Given the description of an element on the screen output the (x, y) to click on. 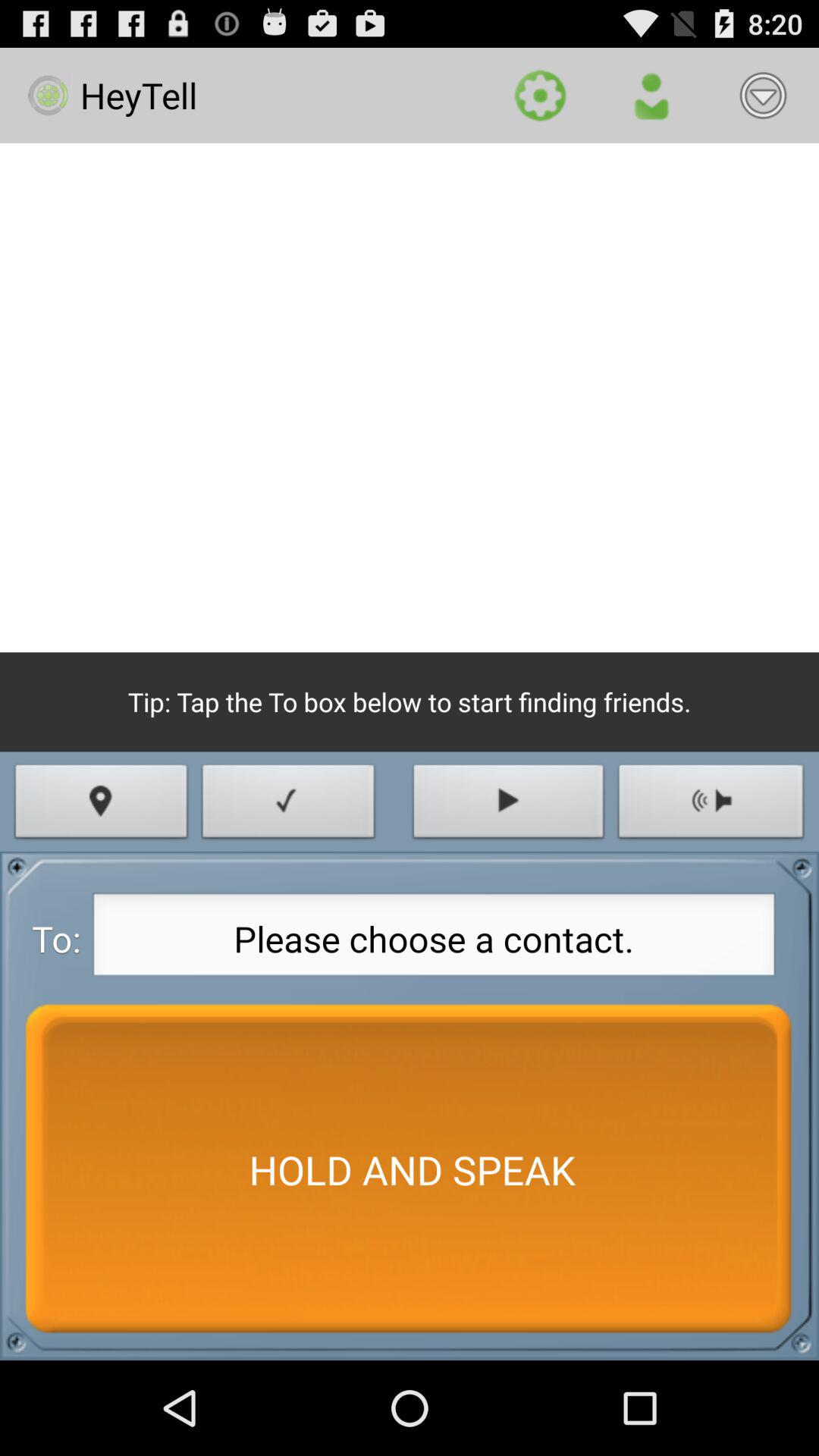
press the icon below tip tap the (508, 805)
